Given the description of an element on the screen output the (x, y) to click on. 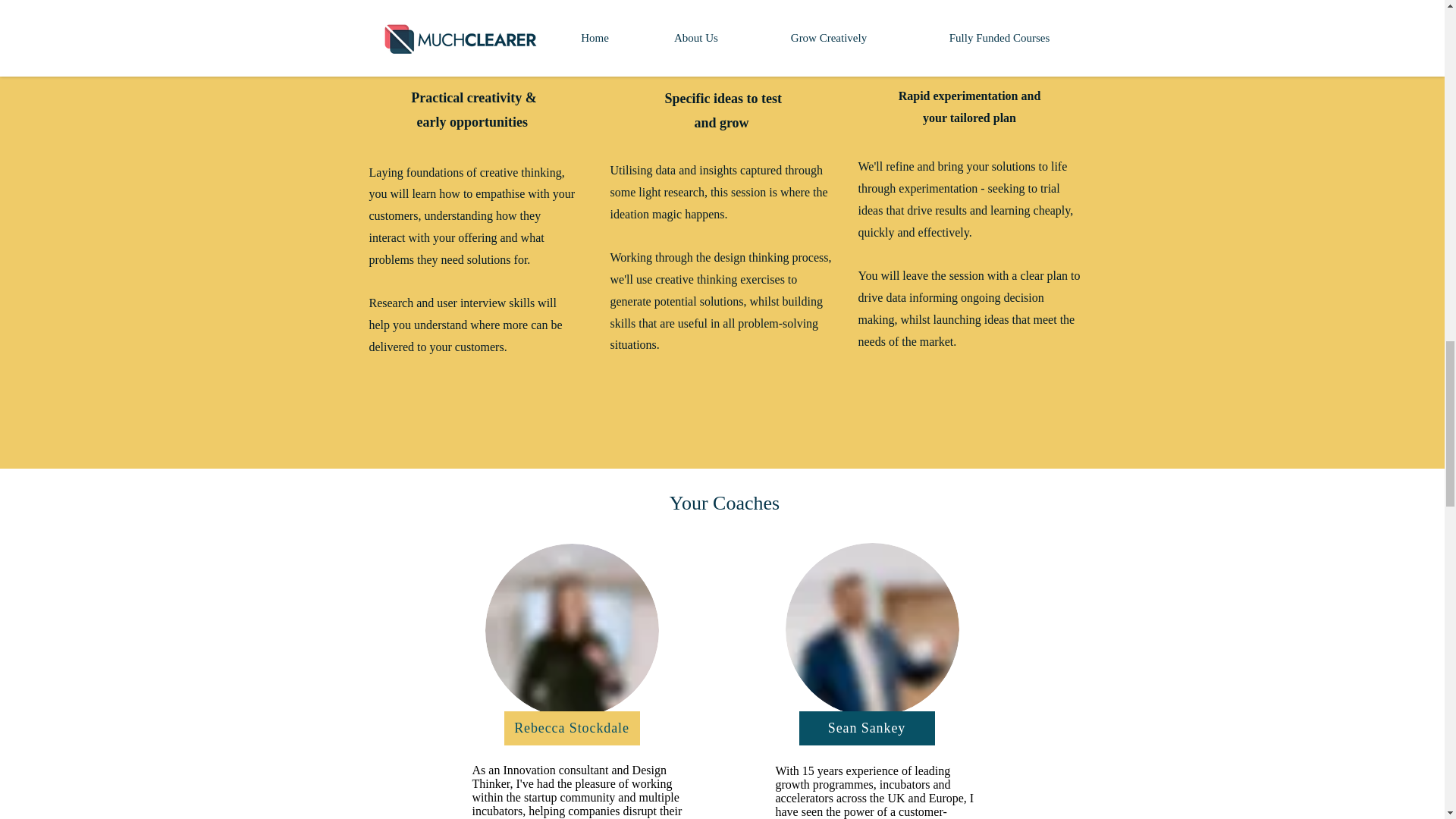
CONTACT US (720, 818)
Rebecca Stockdale (571, 728)
Sean Sankey (866, 728)
